Given the description of an element on the screen output the (x, y) to click on. 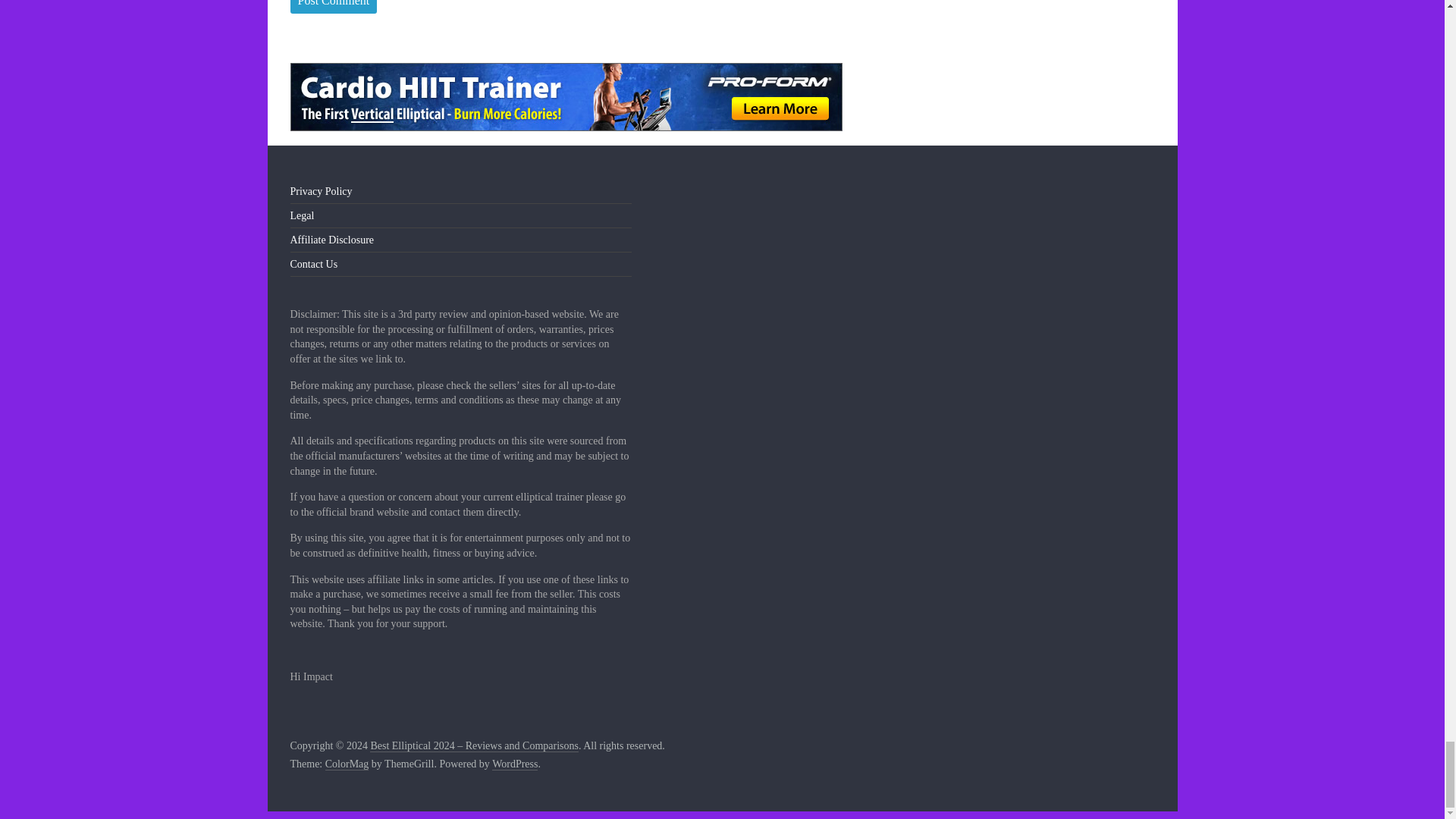
Post Comment (333, 7)
